Given the description of an element on the screen output the (x, y) to click on. 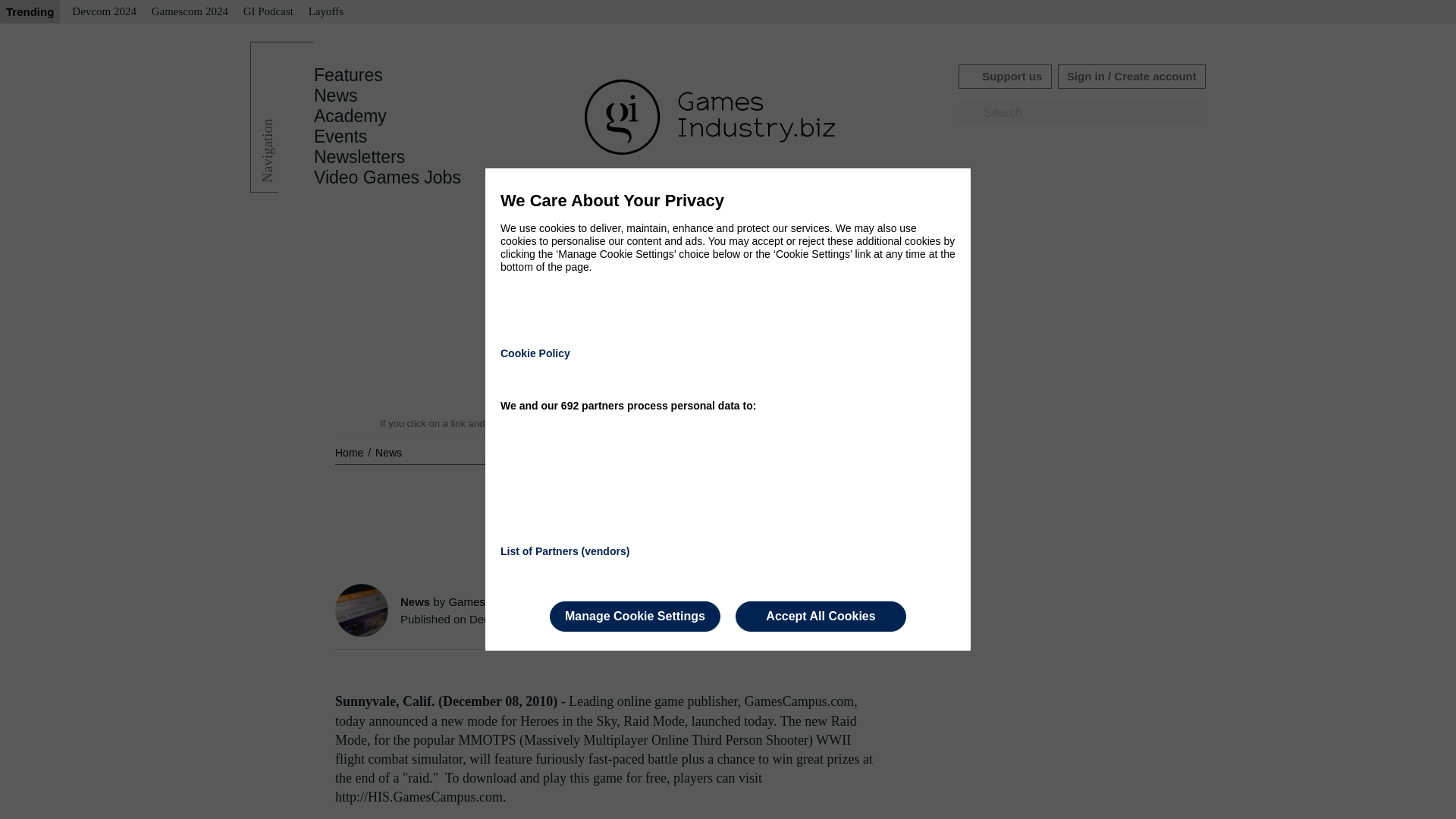
Newsletters (359, 157)
Features (348, 75)
Video Games Jobs (387, 177)
News (388, 452)
Home (350, 452)
Read our editorial policy (781, 423)
Video Games Jobs (387, 177)
Gamescom 2024 (189, 11)
Academy (350, 116)
Devcom 2024 (103, 11)
